Given the description of an element on the screen output the (x, y) to click on. 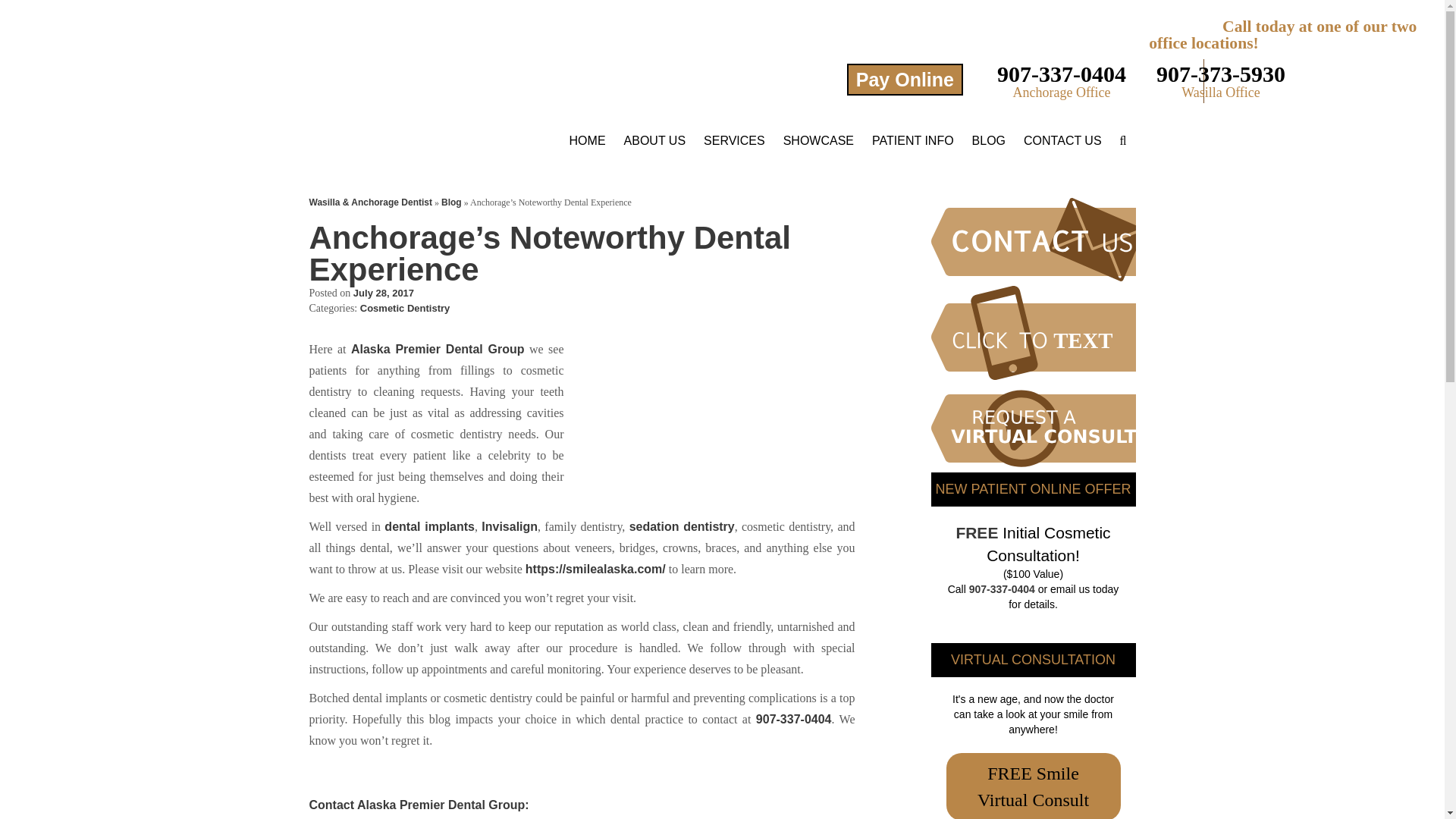
HOME (587, 140)
TEXT (1060, 332)
SERVICES (734, 140)
Pay Online (904, 79)
Alaska Premier Dental Group (240, 79)
ABOUT US (654, 140)
907-373-5930 (1220, 74)
907-337-0404 (1061, 74)
